Given the description of an element on the screen output the (x, y) to click on. 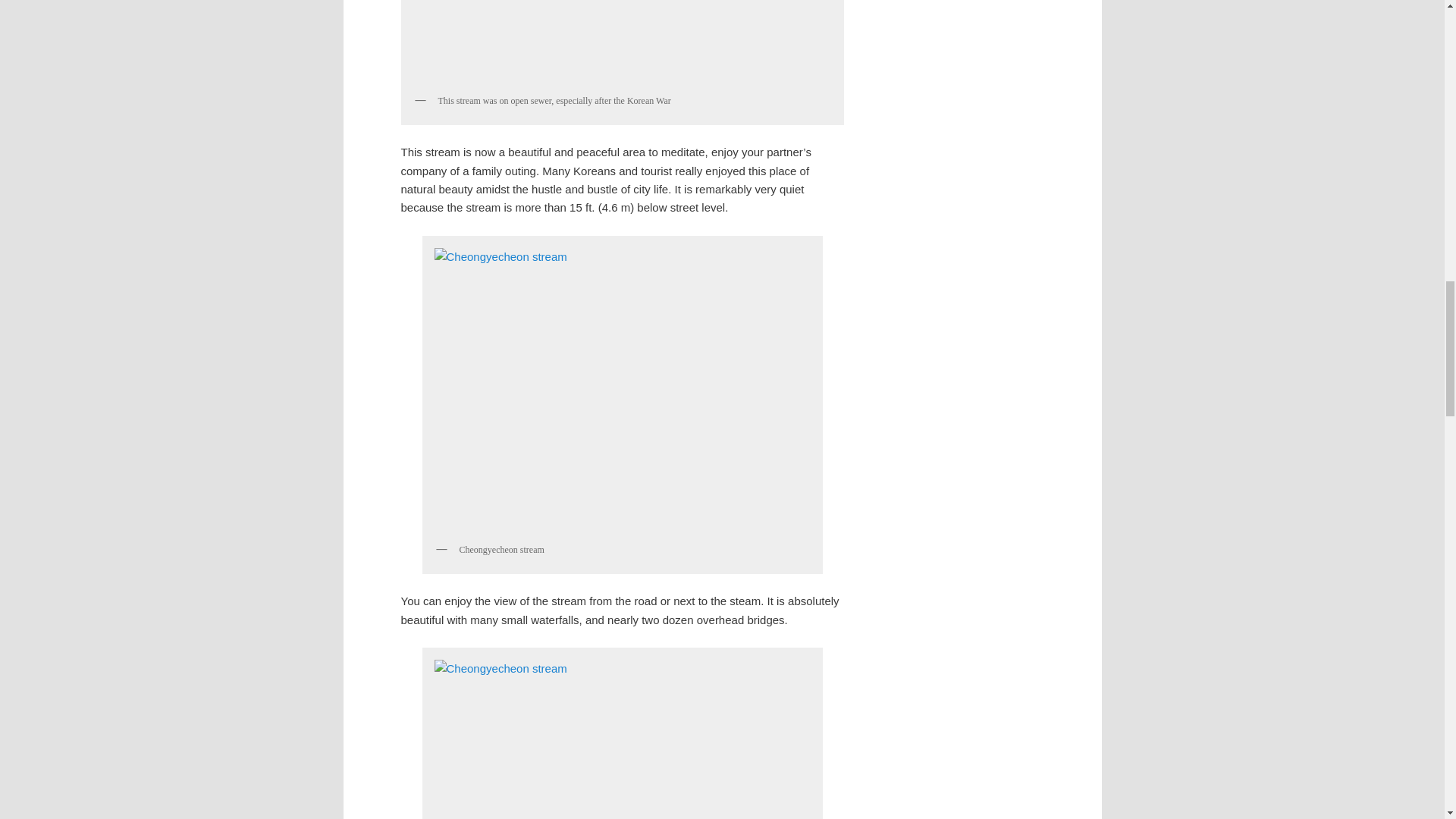
P1170217 (622, 736)
P1170218 (622, 388)
Cheongyecheon stream (622, 43)
